Given the description of an element on the screen output the (x, y) to click on. 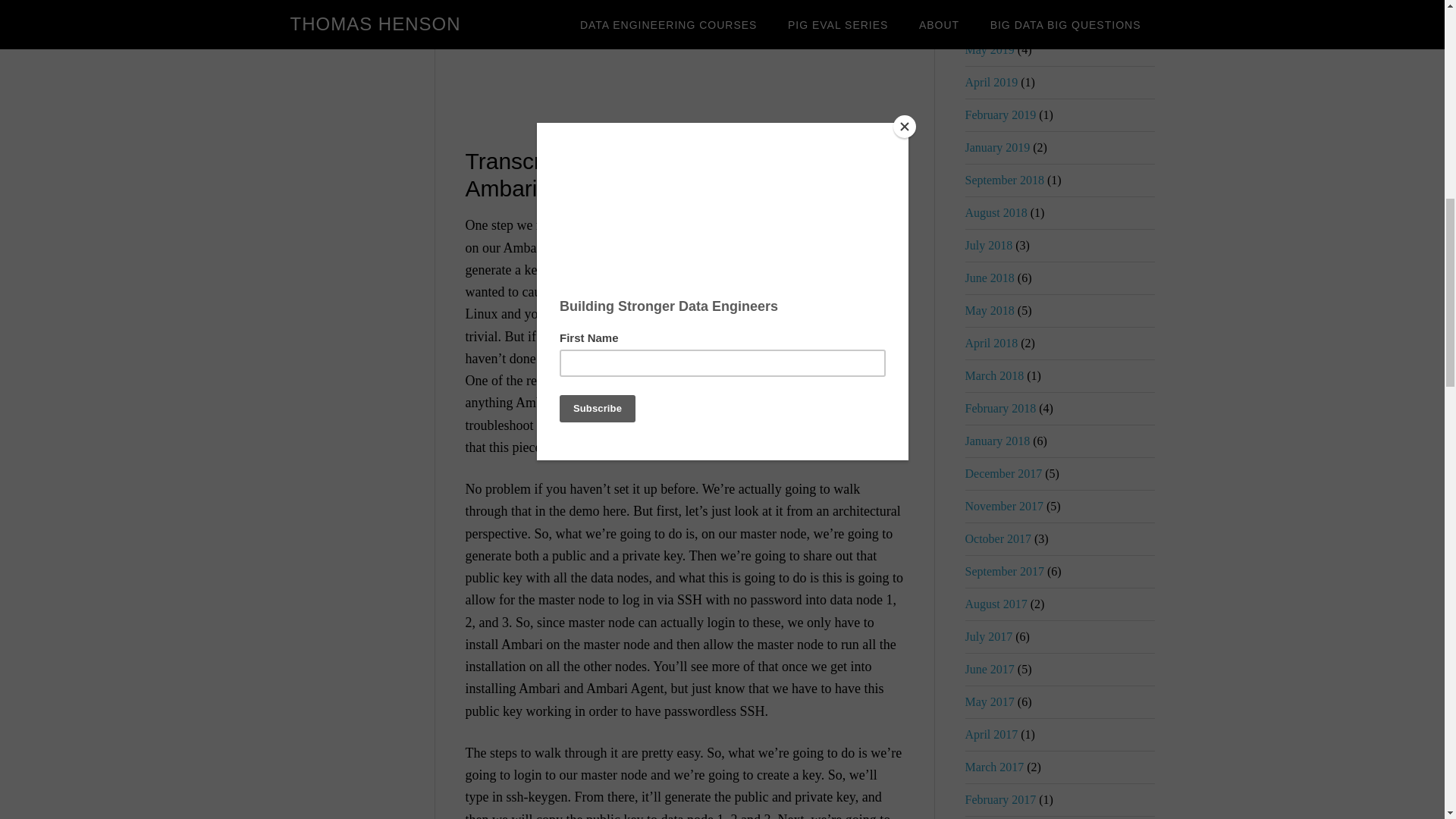
June 2019 (988, 16)
July 2018 (987, 245)
April 2019 (990, 82)
August 2018 (994, 212)
May 2019 (988, 49)
February 2019 (999, 114)
June 2018 (988, 277)
January 2019 (996, 146)
September 2018 (1003, 179)
